Given the description of an element on the screen output the (x, y) to click on. 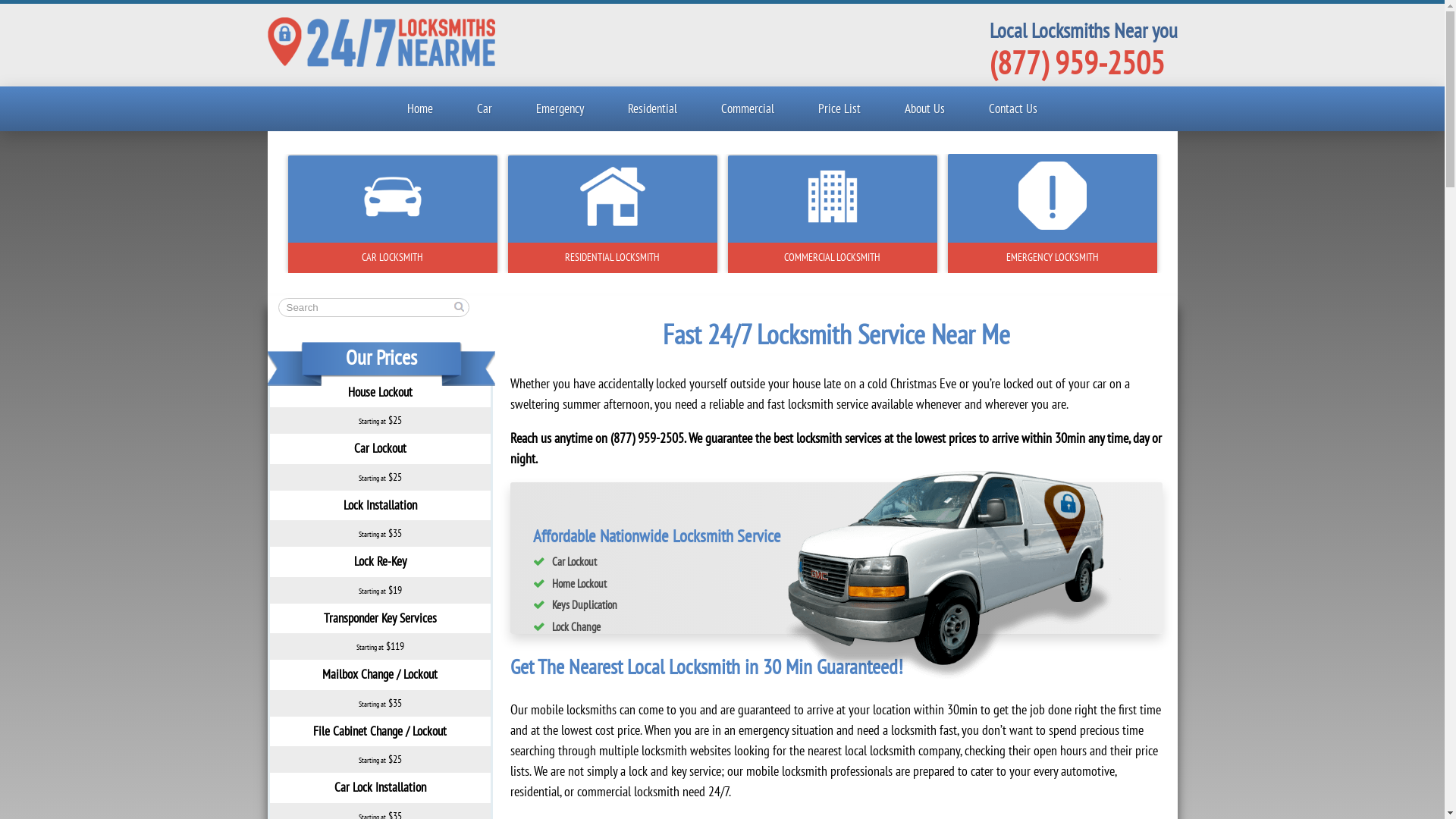
Residential Element type: text (652, 108)
About Us Element type: text (924, 108)
Emergency Element type: text (559, 108)
Mailbox Change / Lockout Element type: text (379, 673)
Commercial Element type: text (747, 108)
Car Element type: text (484, 108)
Skip to main content Element type: text (49, 0)
Price List Element type: text (839, 108)
Enter the terms you wish to search for. Element type: hover (372, 307)
Lock Re-Key Element type: text (379, 560)
Transponder Key Services Element type: text (379, 617)
(877) 959-2505 Element type: text (1076, 61)
RESIDENTIAL LOCKSMITH Element type: text (612, 257)
CAR LOCKSMITH Element type: text (392, 257)
Car Lockout Element type: text (379, 447)
247 locksmith near me Element type: hover (951, 575)
COMMERCIAL LOCKSMITH Element type: text (832, 257)
Contact Us Element type: text (1012, 108)
Lock Installation Element type: text (379, 504)
EMERGENCY LOCKSMITH Element type: text (1052, 257)
Car Lock Installation Element type: text (379, 786)
Home Element type: text (419, 108)
House Lockout Element type: text (379, 391)
